Given the description of an element on the screen output the (x, y) to click on. 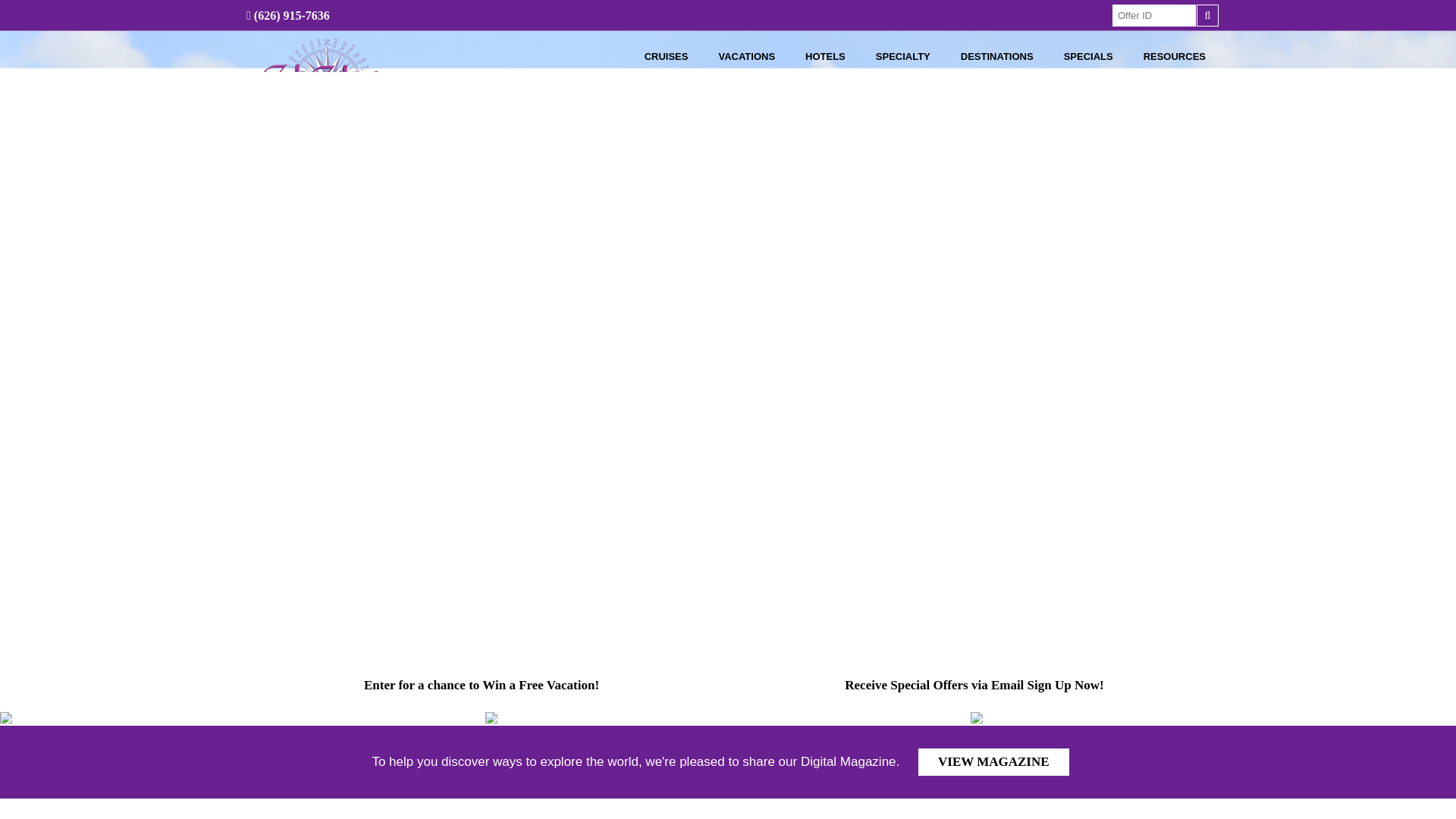
SPECIALS (1088, 56)
SPECIALTY (902, 56)
DESTINATIONS (996, 56)
HOTELS (825, 56)
RESOURCES (1174, 56)
CRUISES (665, 56)
VACATIONS (746, 56)
